Given the description of an element on the screen output the (x, y) to click on. 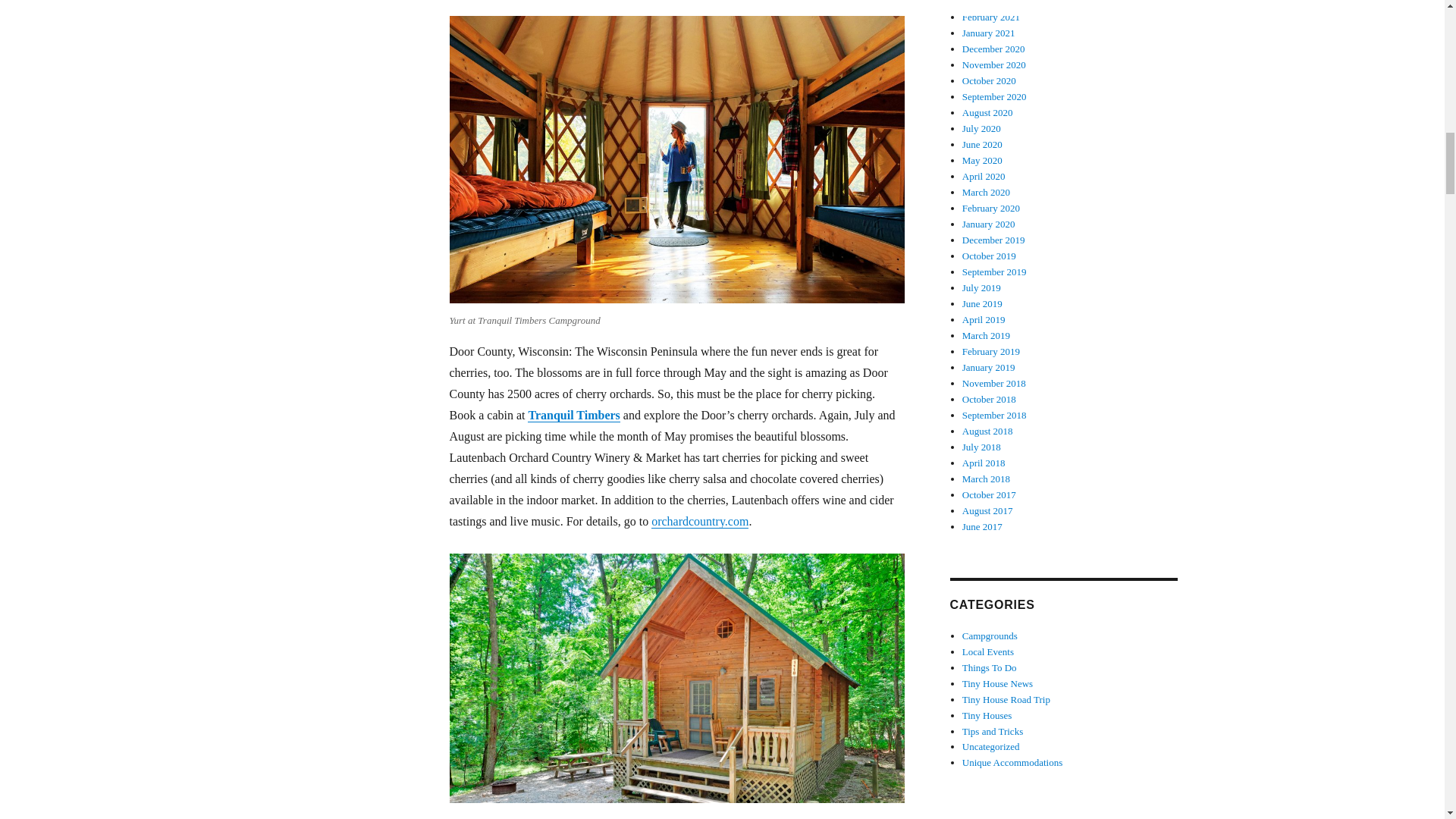
Tranquil Timbers (573, 414)
orchardcountry.com (699, 521)
